Given the description of an element on the screen output the (x, y) to click on. 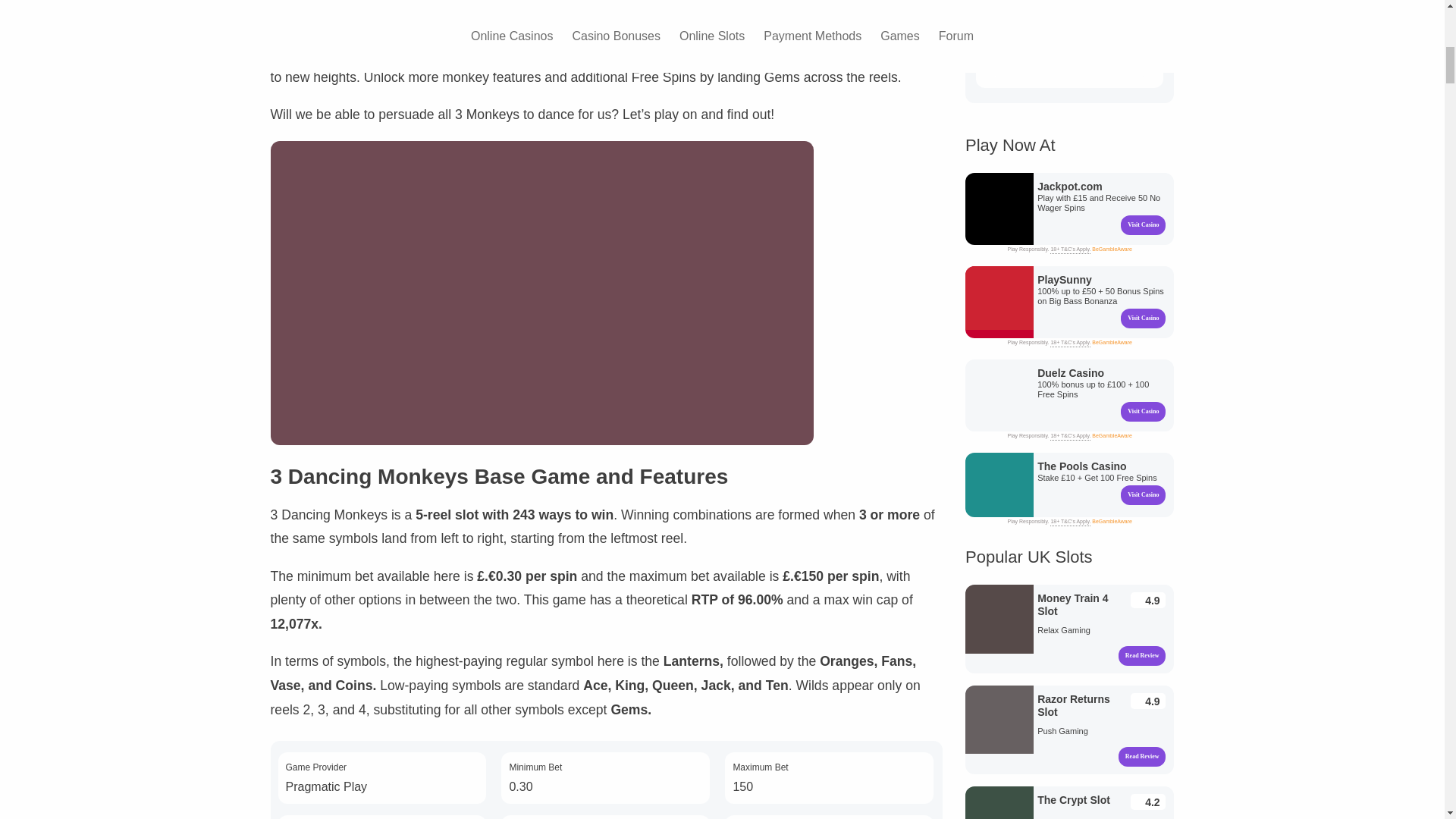
 Visit Casino (1143, 225)
 Visit Casino (999, 208)
BeGambleAware (1112, 248)
 Visit Casino (999, 302)
 Visit Casino (1143, 318)
Pragmatic Play (325, 786)
